Given the description of an element on the screen output the (x, y) to click on. 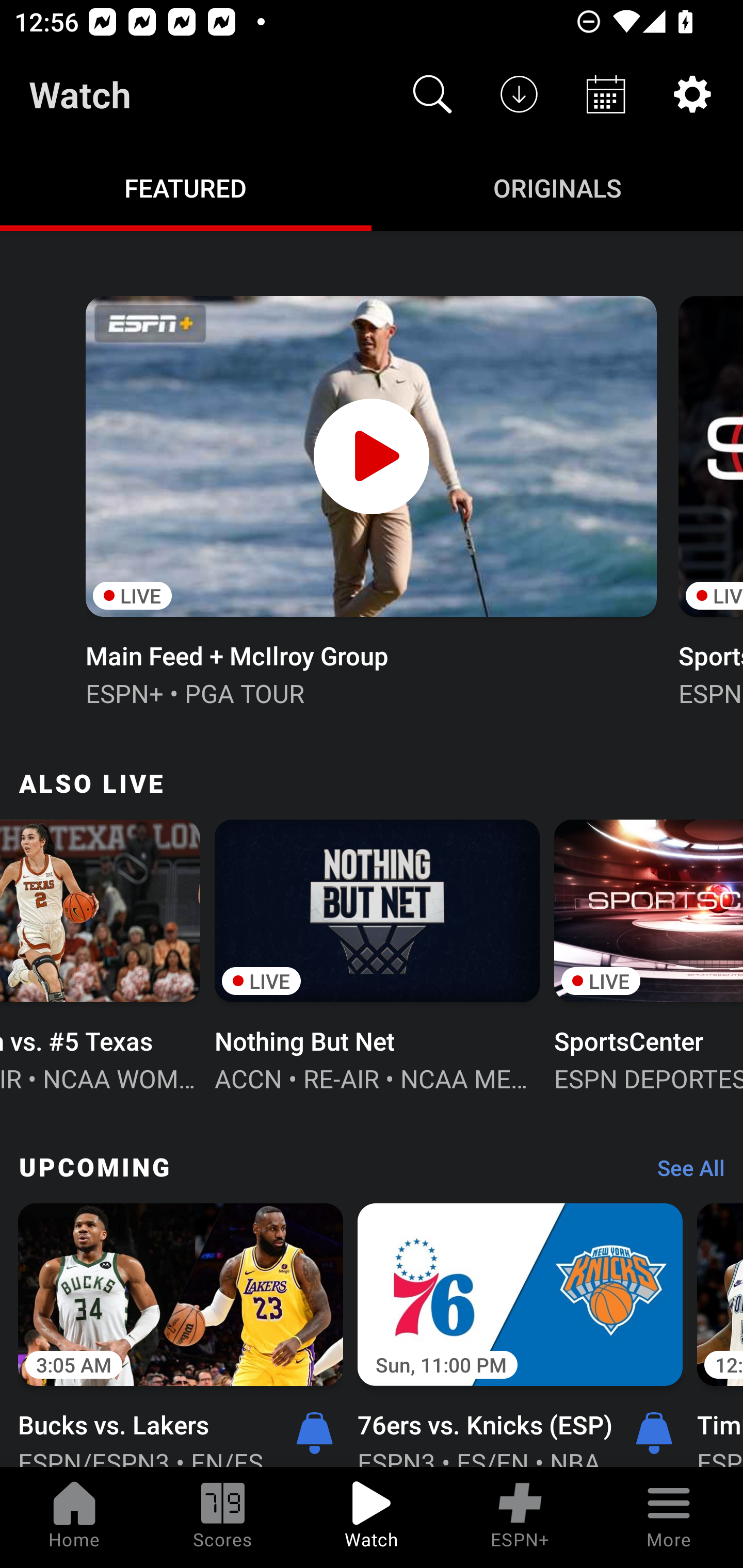
Search (432, 93)
Downloads (518, 93)
Schedule (605, 93)
Settings (692, 93)
Originals ORIGINALS (557, 187)
 LIVE Main Feed + McIlroy Group ESPN+ • PGA TOUR (370, 499)
See All (683, 1172)
Home (74, 1517)
Scores (222, 1517)
ESPN+ (519, 1517)
More (668, 1517)
